Given the description of an element on the screen output the (x, y) to click on. 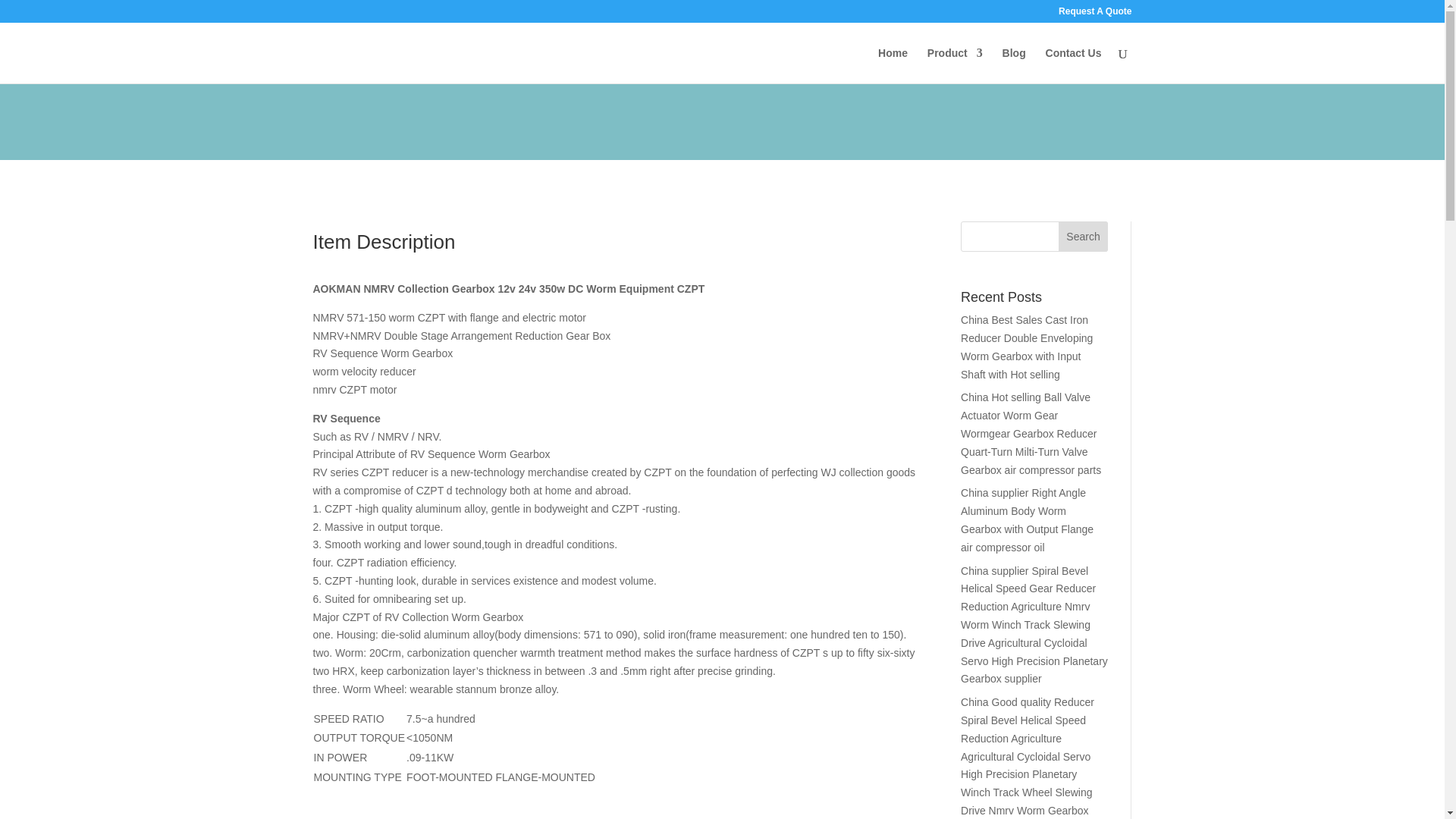
Contact Us (1073, 65)
Product (954, 65)
Search (1083, 236)
Request A Quote (1094, 14)
